Given the description of an element on the screen output the (x, y) to click on. 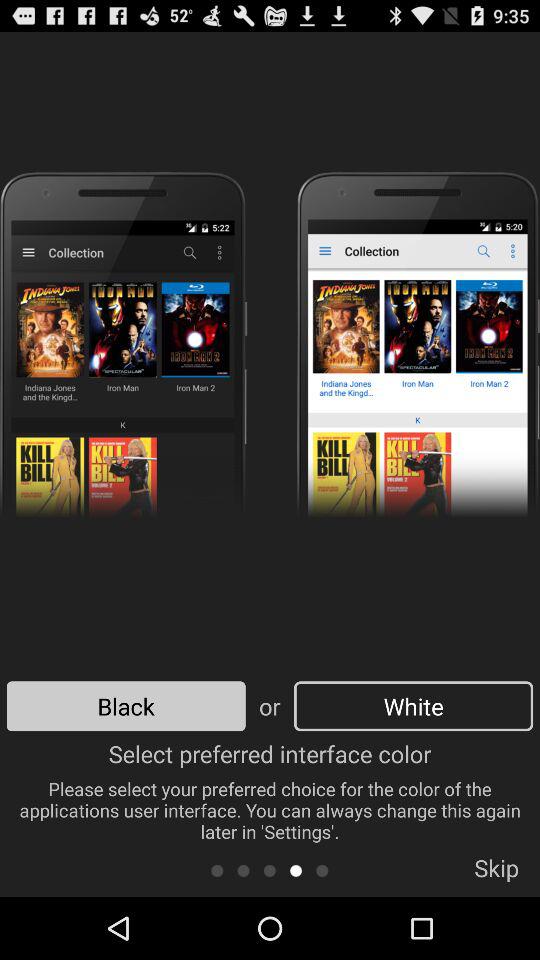
launch icon next to skip (321, 870)
